Given the description of an element on the screen output the (x, y) to click on. 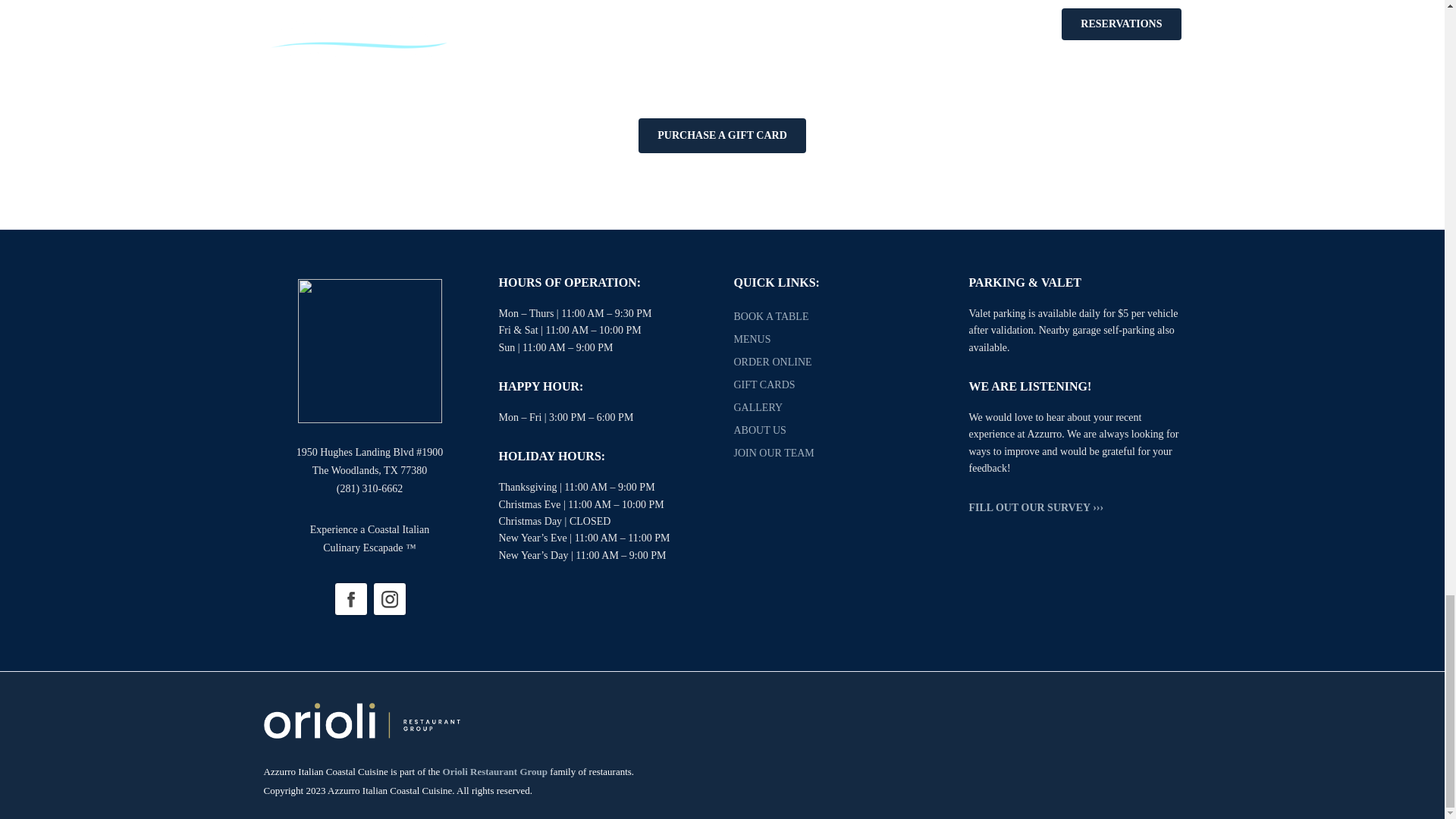
GIFT CARDS (763, 384)
Orioli Restaurant Group (494, 771)
JOIN OUR TEAM (773, 452)
Visit Us On Instagram (389, 597)
BOOK A TABLE (771, 316)
ORDER ONLINE (772, 361)
PURCHASE A GIFT CARD (722, 135)
ABOUT US (759, 430)
Visit Us On Facebook (349, 597)
MENUS (752, 338)
GALLERY (758, 407)
